Given the description of an element on the screen output the (x, y) to click on. 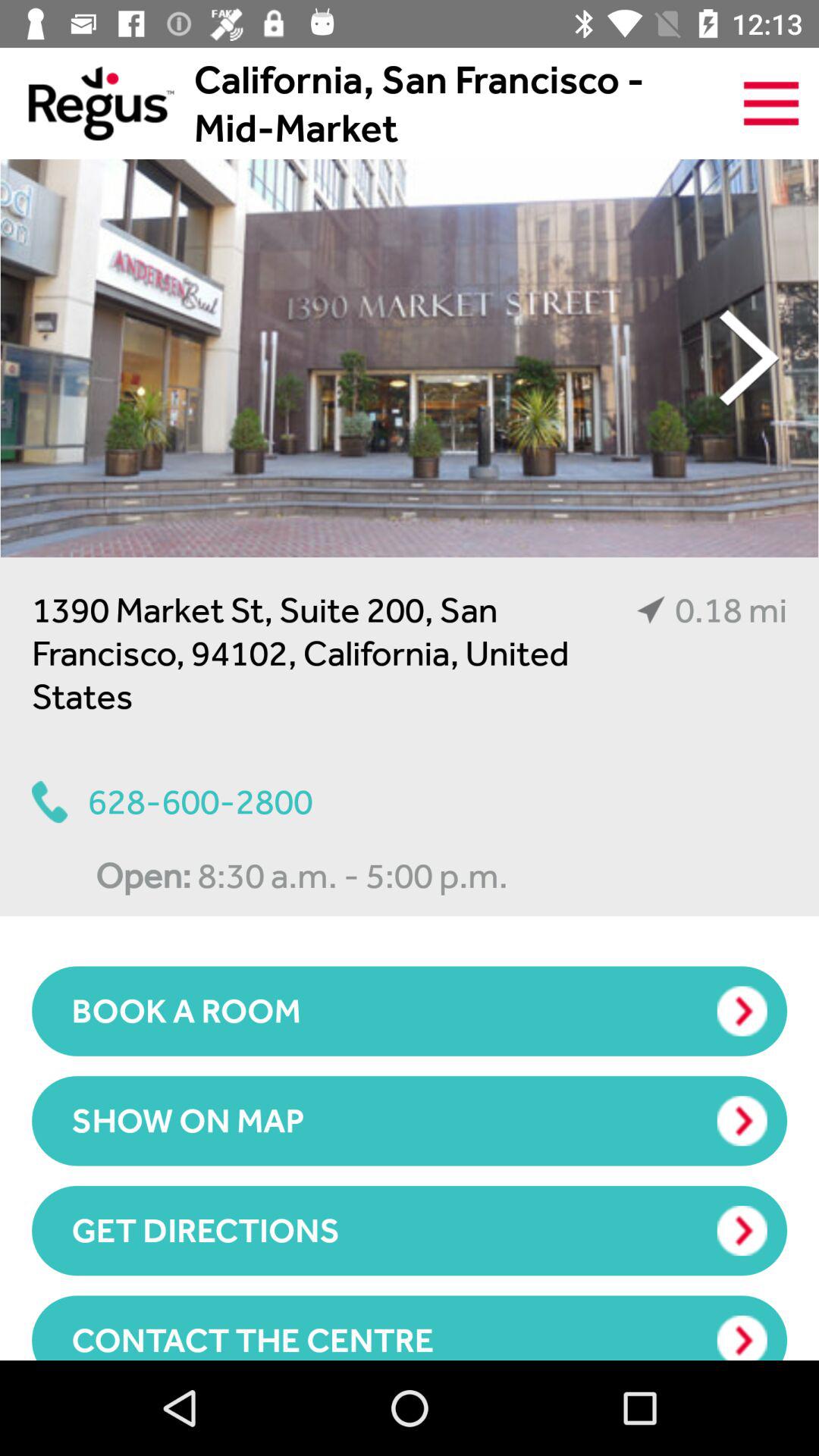
open the item above the 0.18 mi (749, 358)
